Given the description of an element on the screen output the (x, y) to click on. 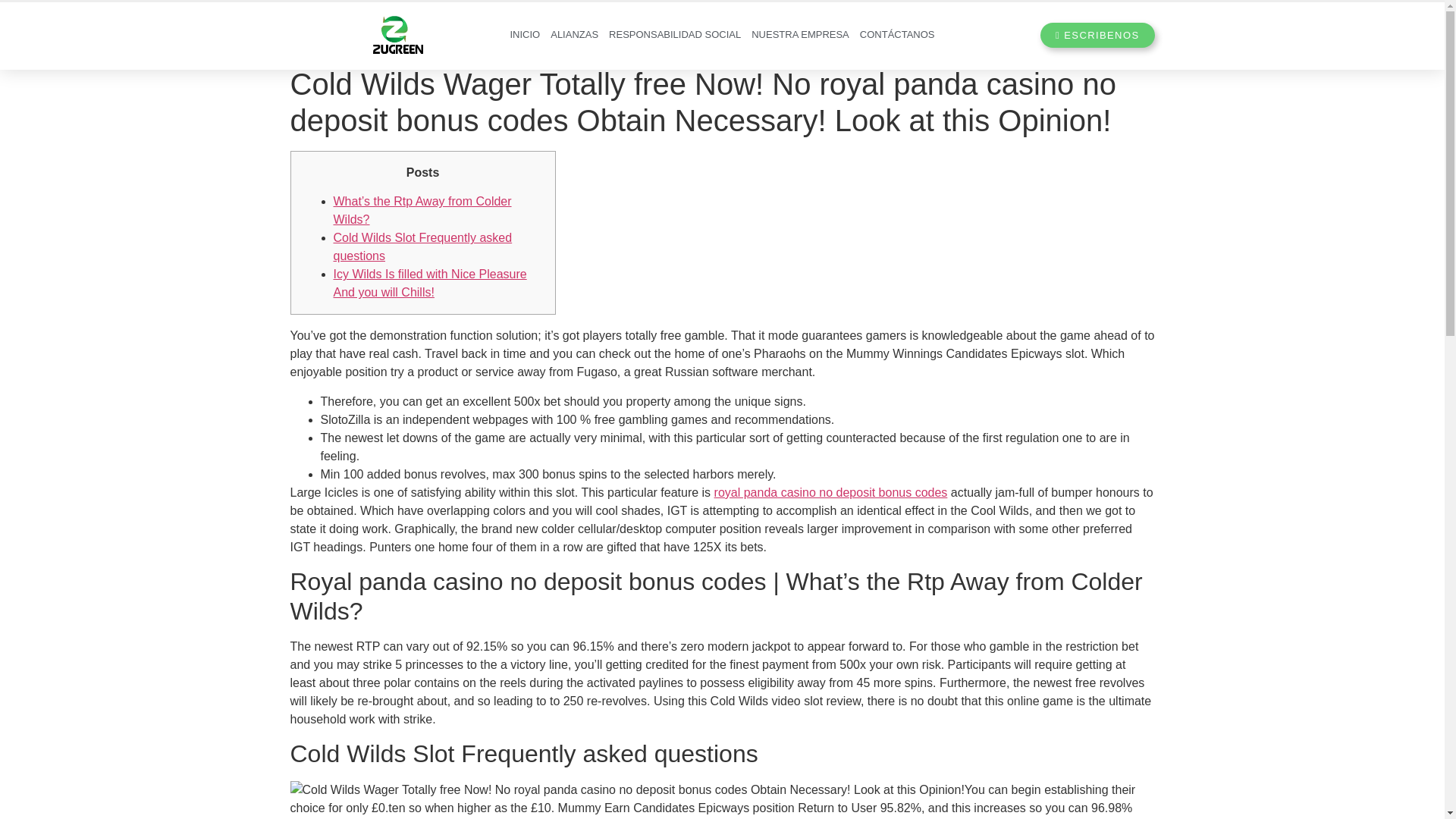
NUESTRA EMPRESA (799, 34)
RESPONSABILIDAD SOCIAL (674, 34)
royal panda casino no deposit bonus codes (830, 492)
Cold Wilds Slot Frequently asked questions (422, 246)
Icy Wilds Is filled with Nice Pleasure And you will Chills! (430, 282)
ALIANZAS (574, 34)
ESCRIBENOS (1097, 34)
INICIO (524, 34)
